Given the description of an element on the screen output the (x, y) to click on. 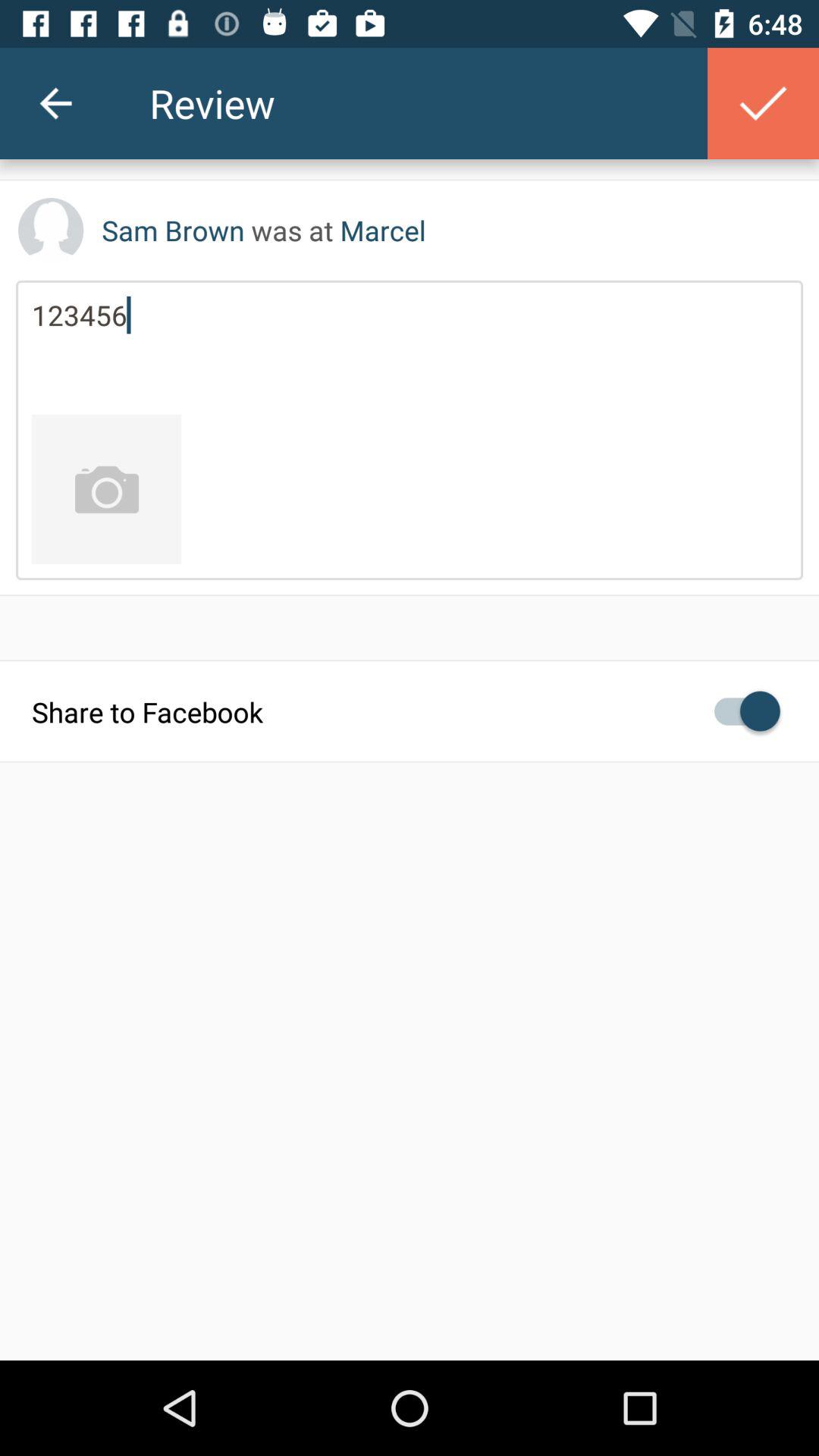
open the item next to review icon (55, 103)
